Given the description of an element on the screen output the (x, y) to click on. 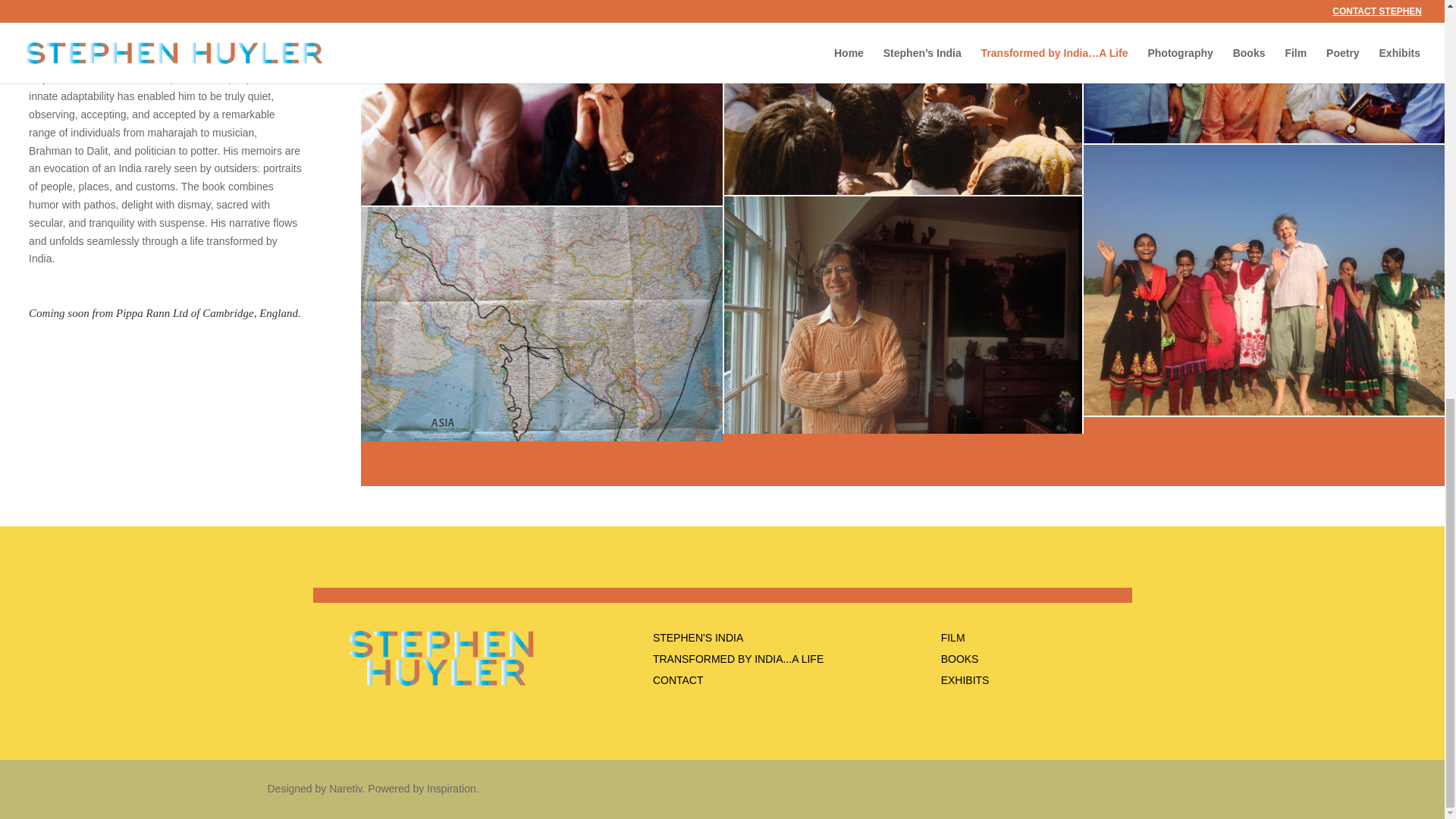
CONTACT (677, 680)
1971-72 Trip to India copy (541, 342)
1990 Steve in Office (902, 315)
EXHIBITS (965, 680)
STEPHEN'S INDIA (697, 637)
FILM (952, 637)
TRANSFORMED BY INDIA...A LIFE (738, 658)
HUYLER-stacked (442, 658)
BOOKS (959, 658)
